Given the description of an element on the screen output the (x, y) to click on. 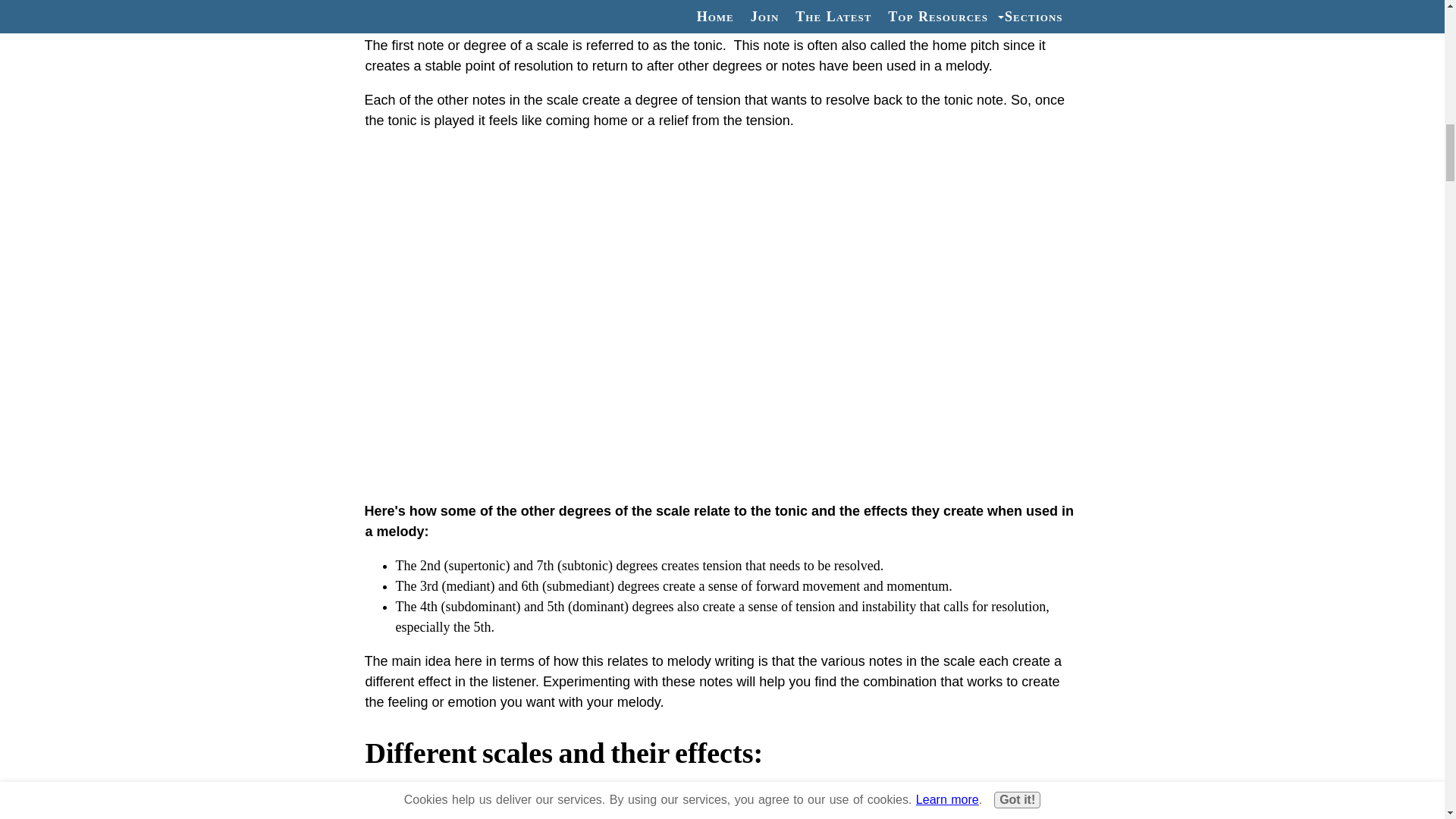
Image of of musical notes on staff - Text "Scales" (722, 7)
